Given the description of an element on the screen output the (x, y) to click on. 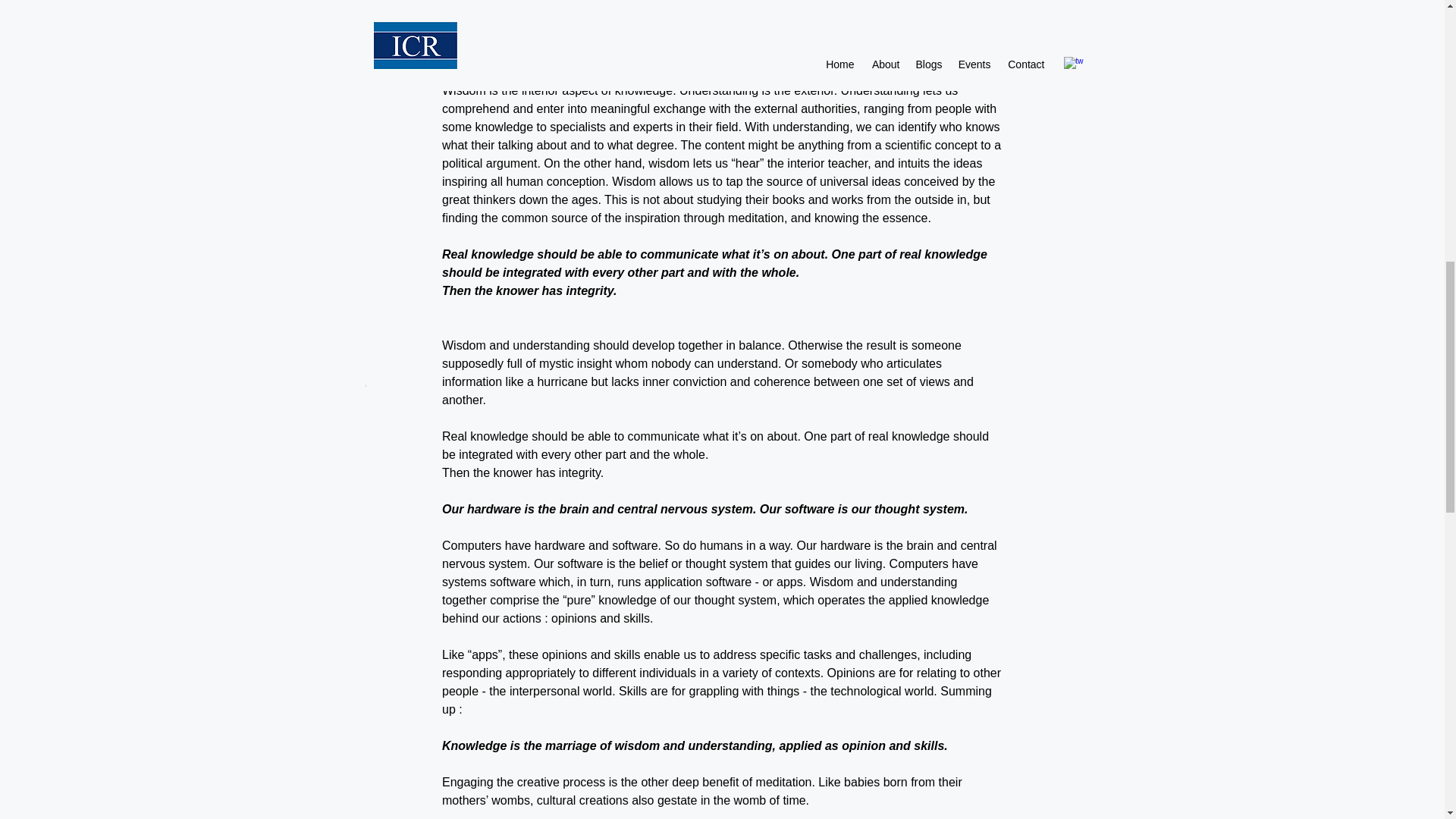
Amoris Laetitia, Part 2 (721, 286)
Amoris Laetitia, Part 3 (479, 286)
Amoris Laetitia - Part 1 (964, 304)
